Given the description of an element on the screen output the (x, y) to click on. 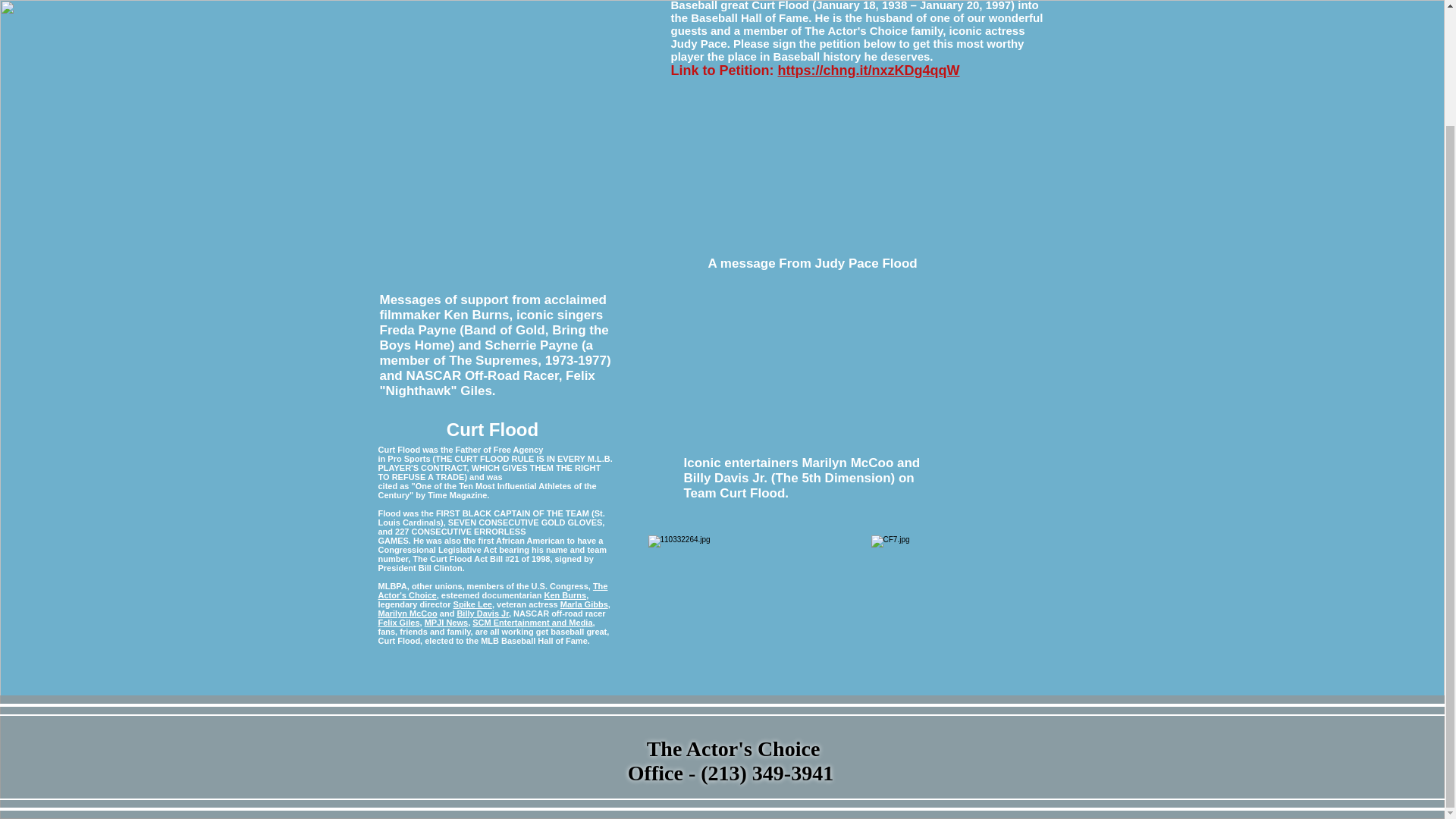
Curt Flood (780, 5)
Marla Gibbs (584, 604)
Billy Davis Jr (482, 613)
MPJI News (446, 622)
SCM Entertainment and Media (531, 622)
Judy Pace (697, 42)
Spike Lee (472, 604)
Ken Burns (565, 594)
Marilyn McCoo (406, 613)
The Actor's Choice (492, 590)
